Given the description of an element on the screen output the (x, y) to click on. 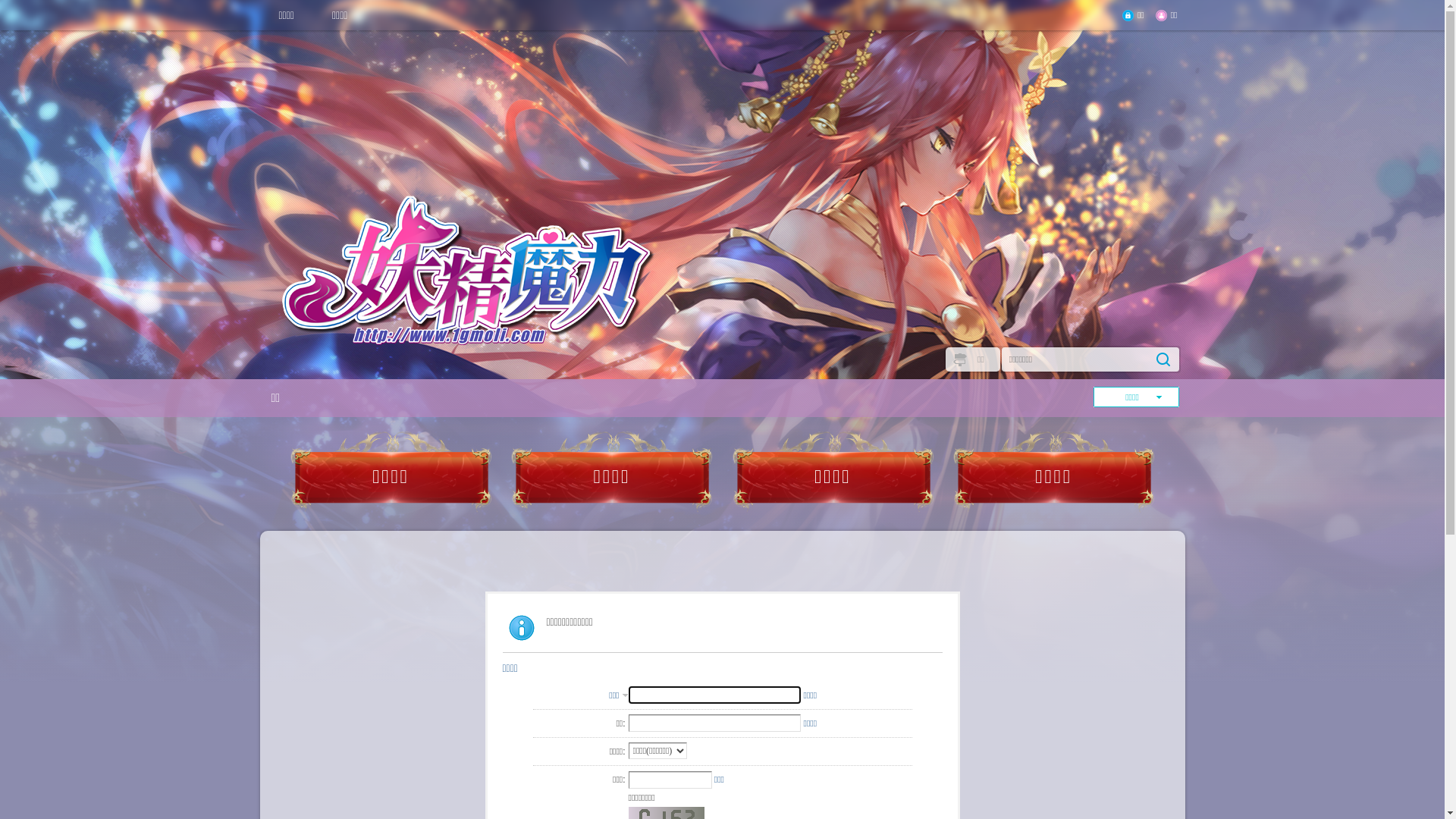
true Element type: text (1162, 359)
